Given the description of an element on the screen output the (x, y) to click on. 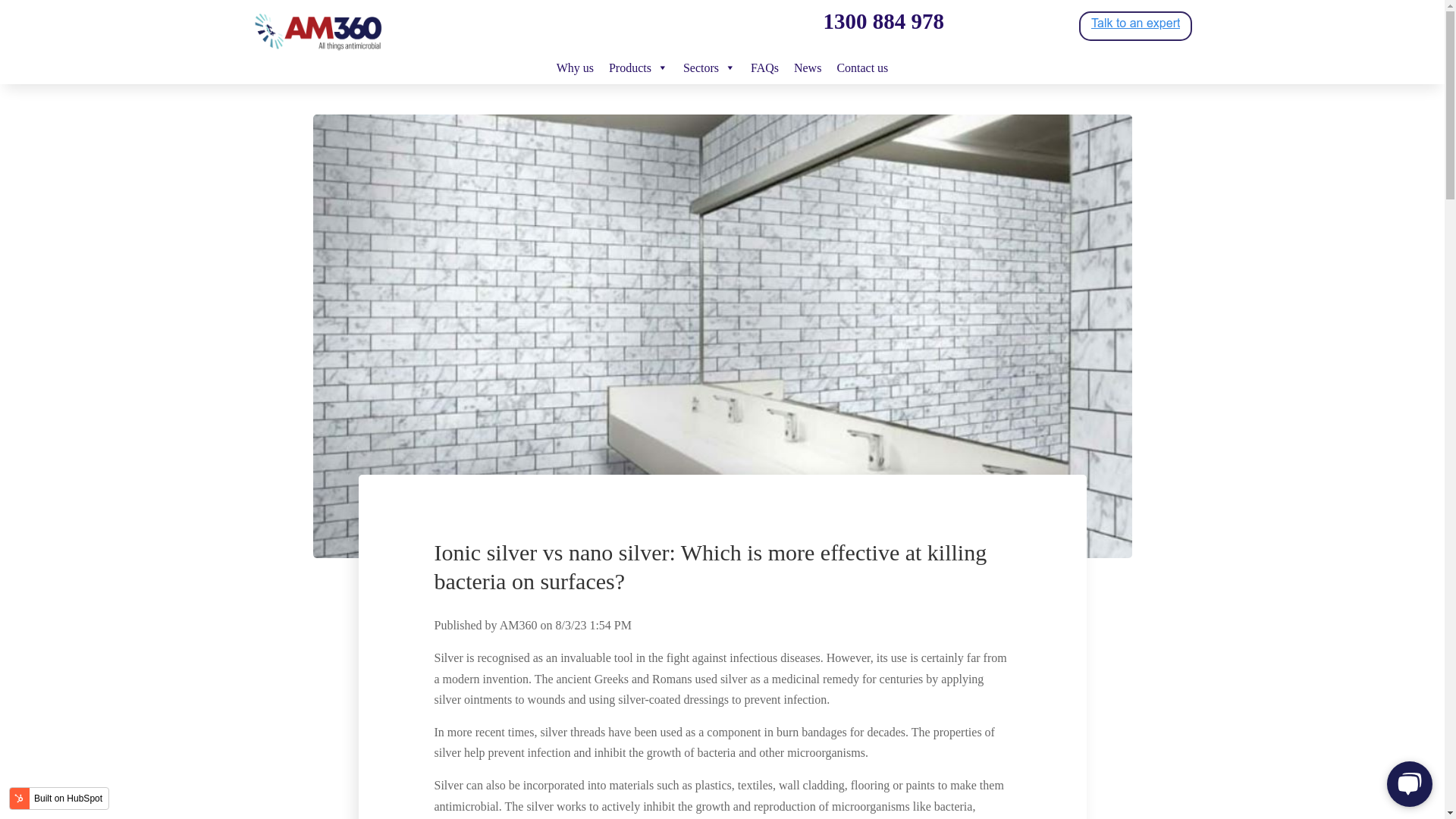
Products (638, 69)
AM360 (519, 625)
Contact us (861, 69)
Why us (574, 69)
News (807, 69)
AM360 (318, 31)
FAQs (764, 69)
Sectors (708, 69)
